Given the description of an element on the screen output the (x, y) to click on. 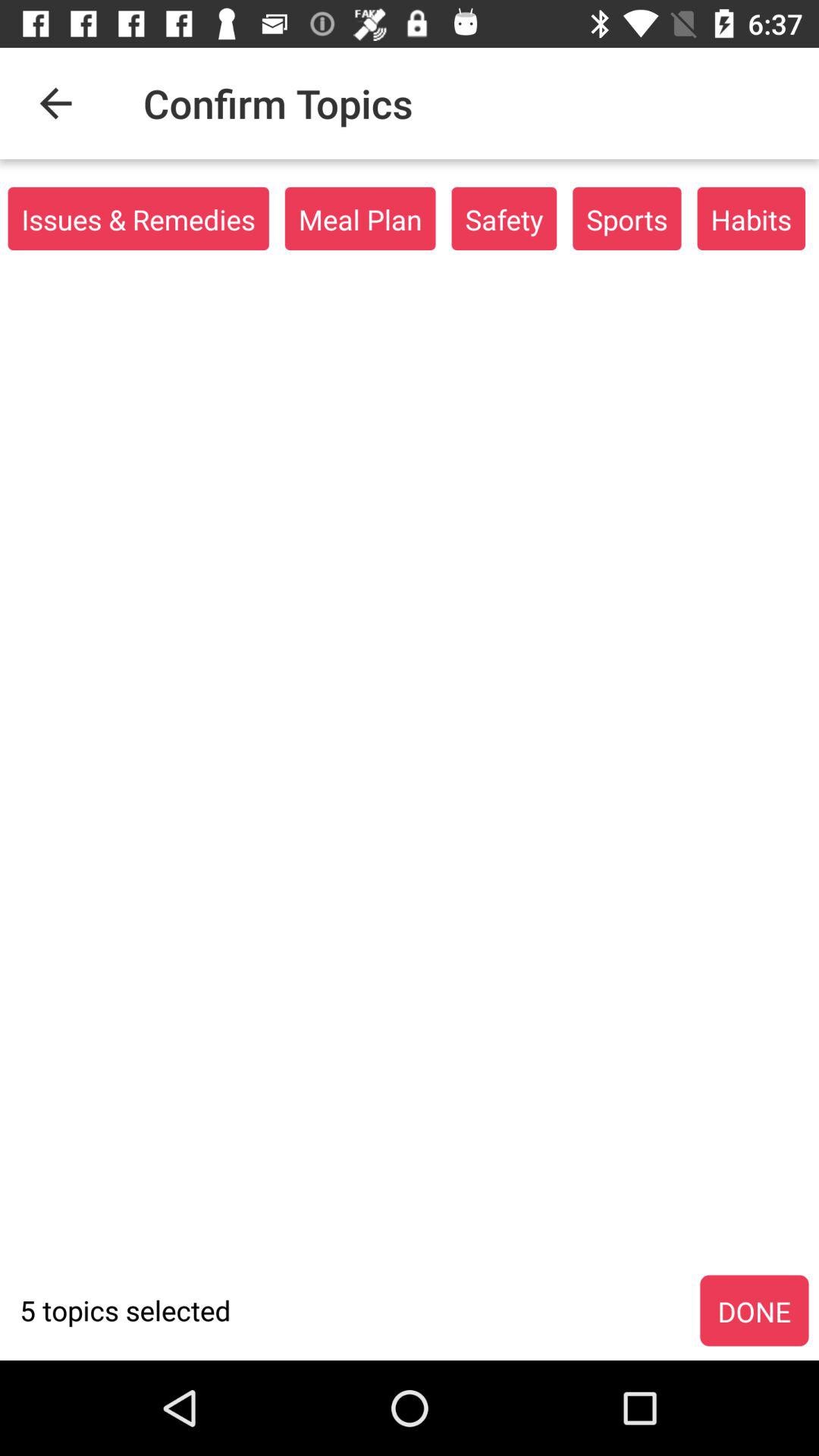
click the item next to confirm topics item (55, 103)
